Given the description of an element on the screen output the (x, y) to click on. 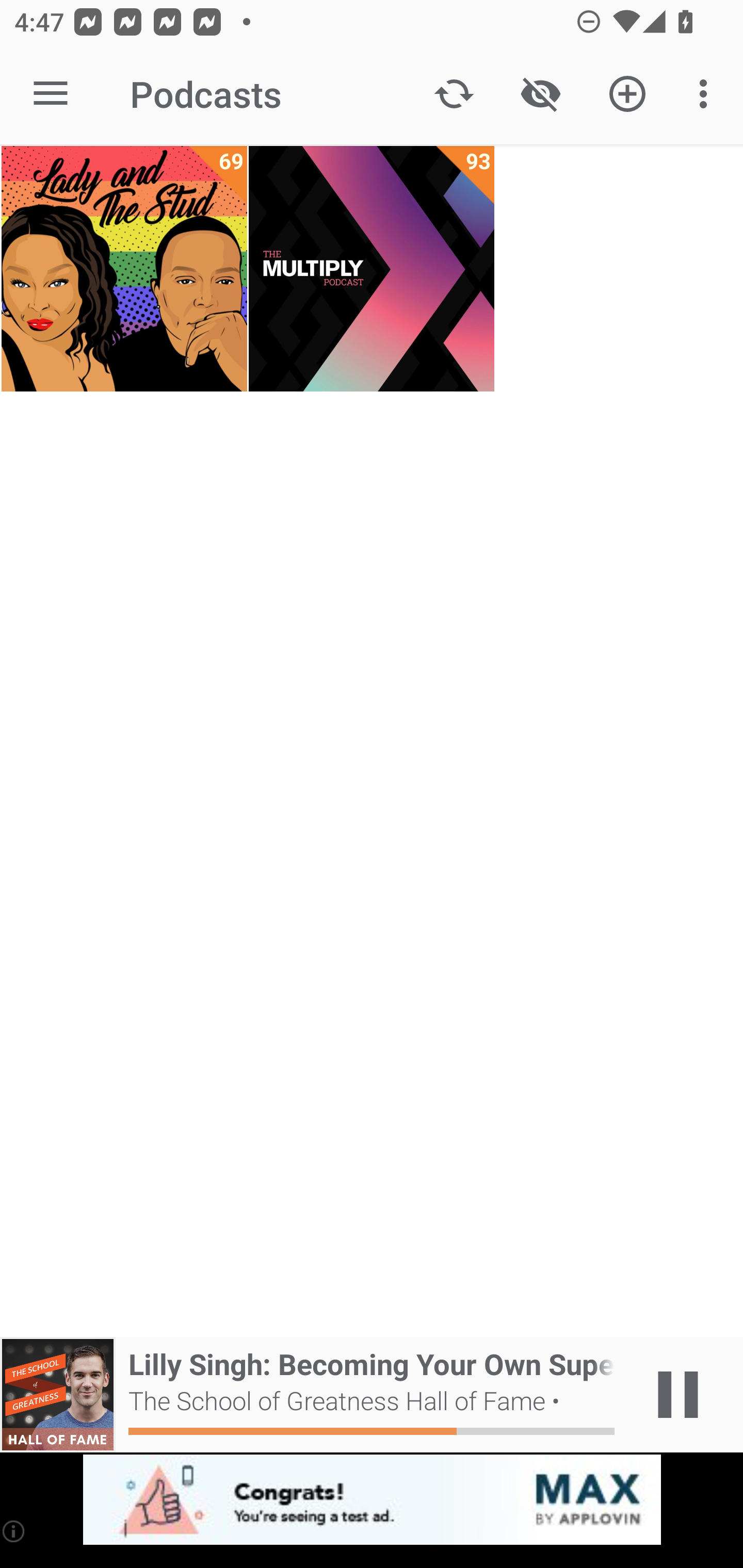
Open navigation sidebar (50, 93)
Update (453, 93)
Show / Hide played content (540, 93)
Add new Podcast (626, 93)
More options (706, 93)
Lady and The Stud 69 (124, 268)
The Multiply Podcast 93 (371, 268)
Play / Pause (677, 1394)
app-monetization (371, 1500)
(i) (14, 1531)
